Given the description of an element on the screen output the (x, y) to click on. 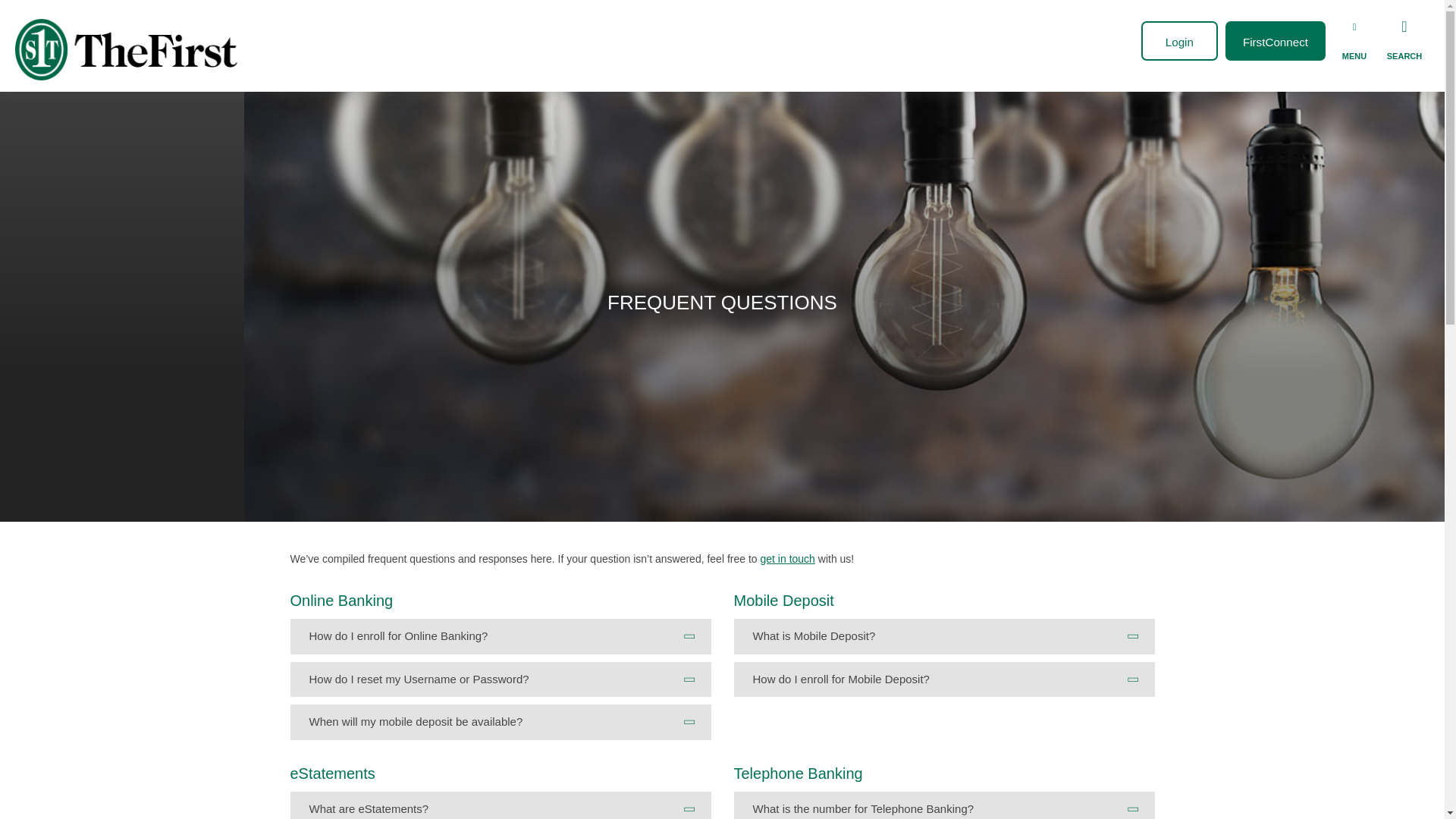
The First Bank (128, 49)
FirstConnect (1274, 40)
Login (1179, 40)
